Given the description of an element on the screen output the (x, y) to click on. 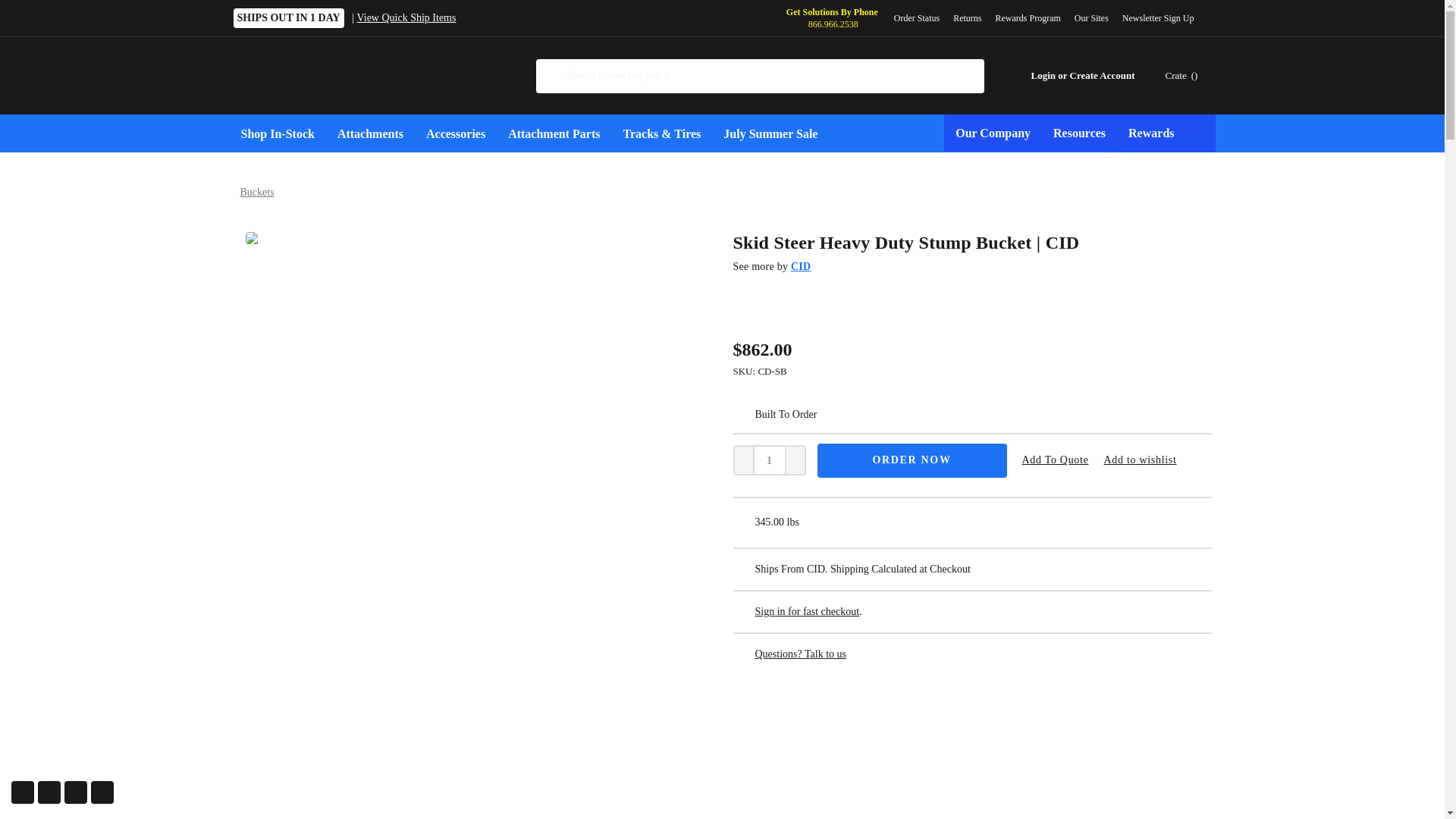
CID Skid Steer Heavy Duty Stump Bucket side (472, 722)
Returns (967, 18)
Newsletter Sign Up (1163, 18)
1 (769, 460)
Login or Create Account (1072, 75)
Attachments (370, 133)
Our Sites (1091, 18)
View Quick Ship Items (405, 18)
866.966.2538 (833, 24)
Order Status (916, 18)
Rewards Program (1028, 18)
Shop In-Stock (276, 133)
Order Now (911, 460)
